Given the description of an element on the screen output the (x, y) to click on. 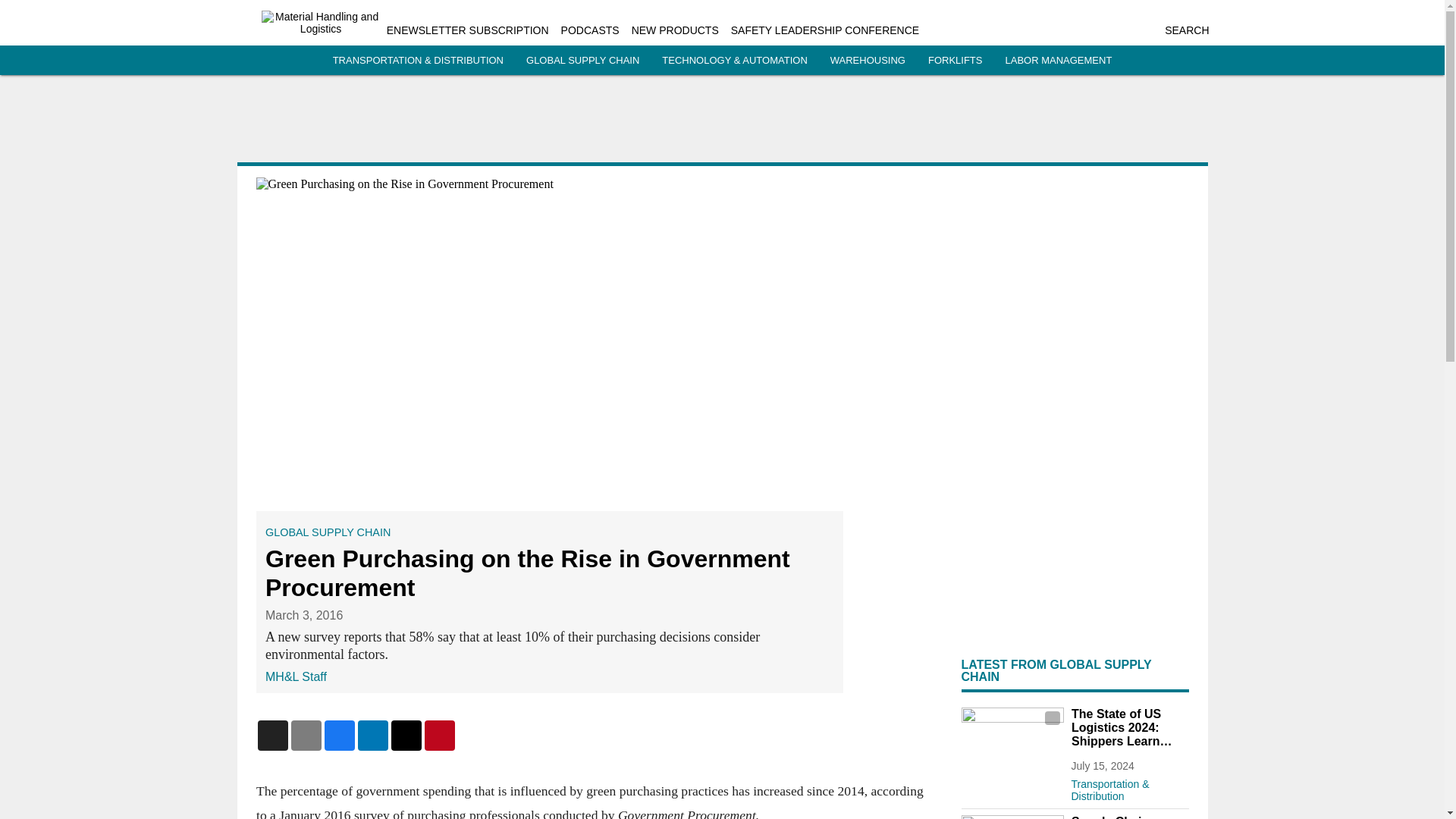
SEARCH (1186, 30)
PODCASTS (590, 30)
NEW PRODUCTS (675, 30)
GLOBAL SUPPLY CHAIN (582, 60)
WAREHOUSING (867, 60)
LABOR MANAGEMENT (1058, 60)
SAFETY LEADERSHIP CONFERENCE (824, 30)
